Given the description of an element on the screen output the (x, y) to click on. 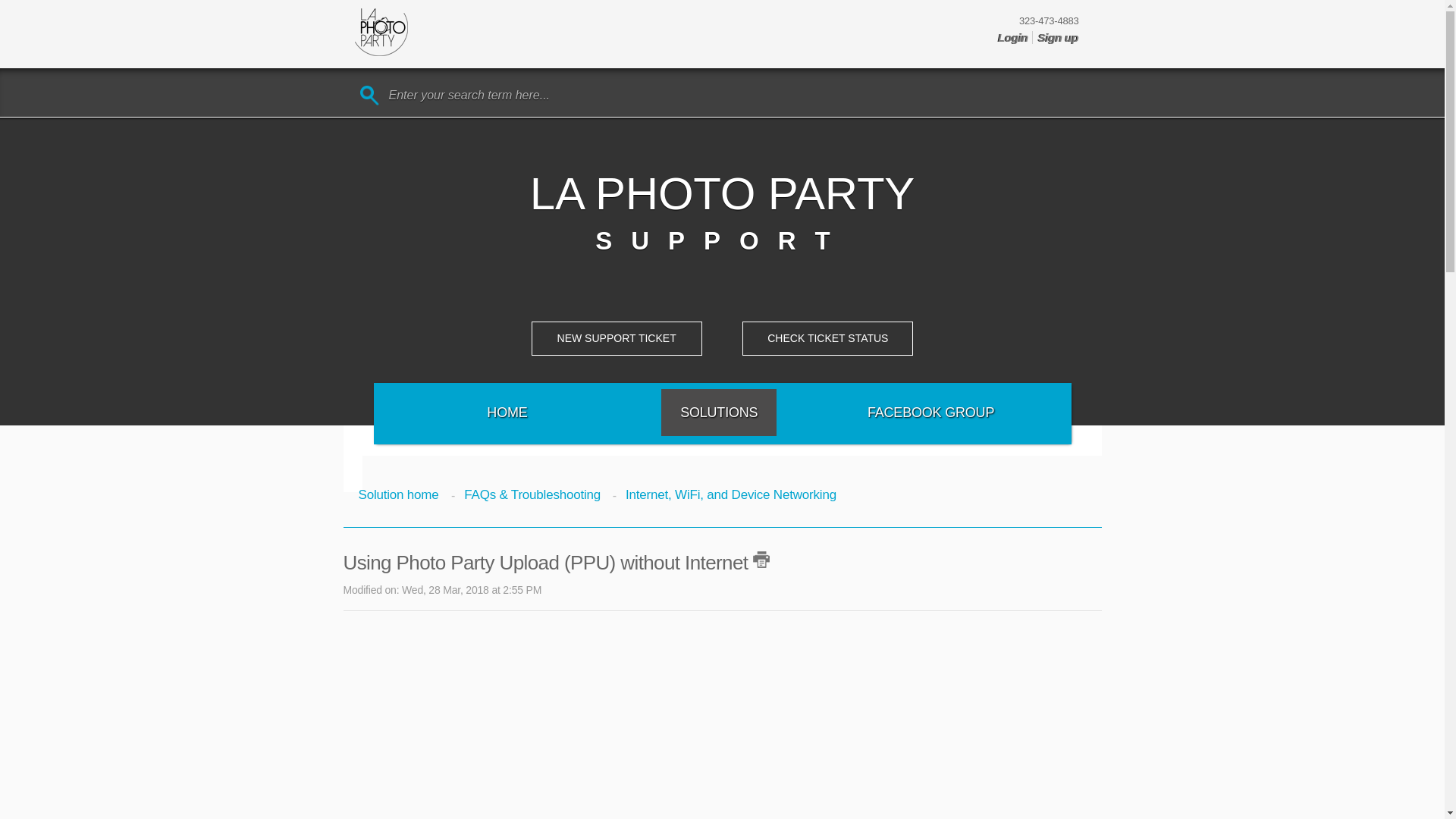
Login (1014, 37)
Print this Article (761, 559)
Sign up (1058, 37)
Internet, WiFi, and Device Networking (723, 494)
SOLUTIONS (718, 412)
Solution home (400, 494)
HOME (506, 412)
New Support Ticket (616, 338)
Check Ticket Status (827, 338)
FACEBOOK GROUP (930, 412)
